Given the description of an element on the screen output the (x, y) to click on. 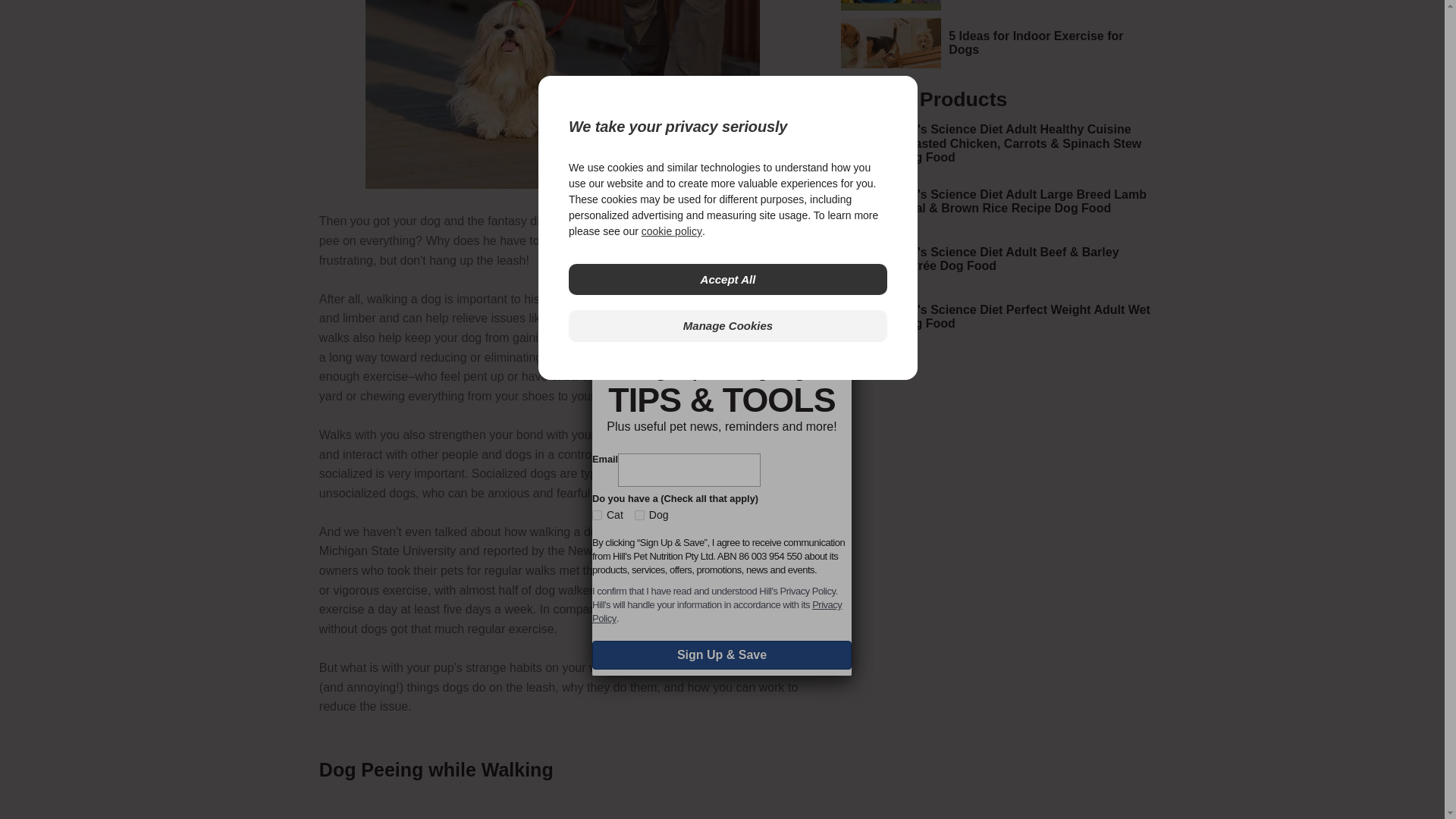
person-walking-long-haired-shih-tzu (562, 94)
